Given the description of an element on the screen output the (x, y) to click on. 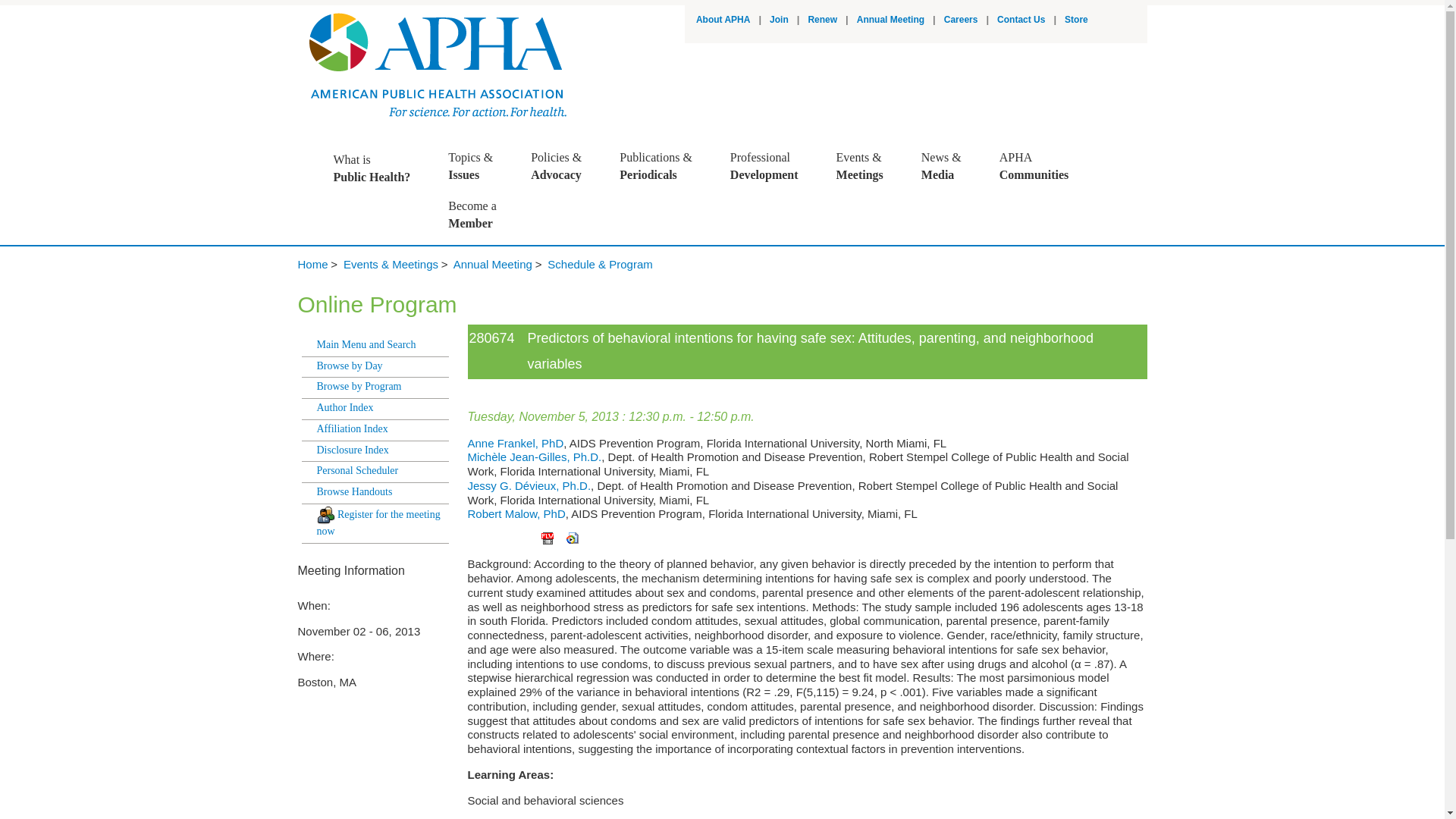
Store (772, 166)
Annual Meeting (1075, 19)
Renew (890, 19)
Contact Us (378, 169)
Join (822, 19)
Careers (1021, 19)
About APHA (779, 19)
